Given the description of an element on the screen output the (x, y) to click on. 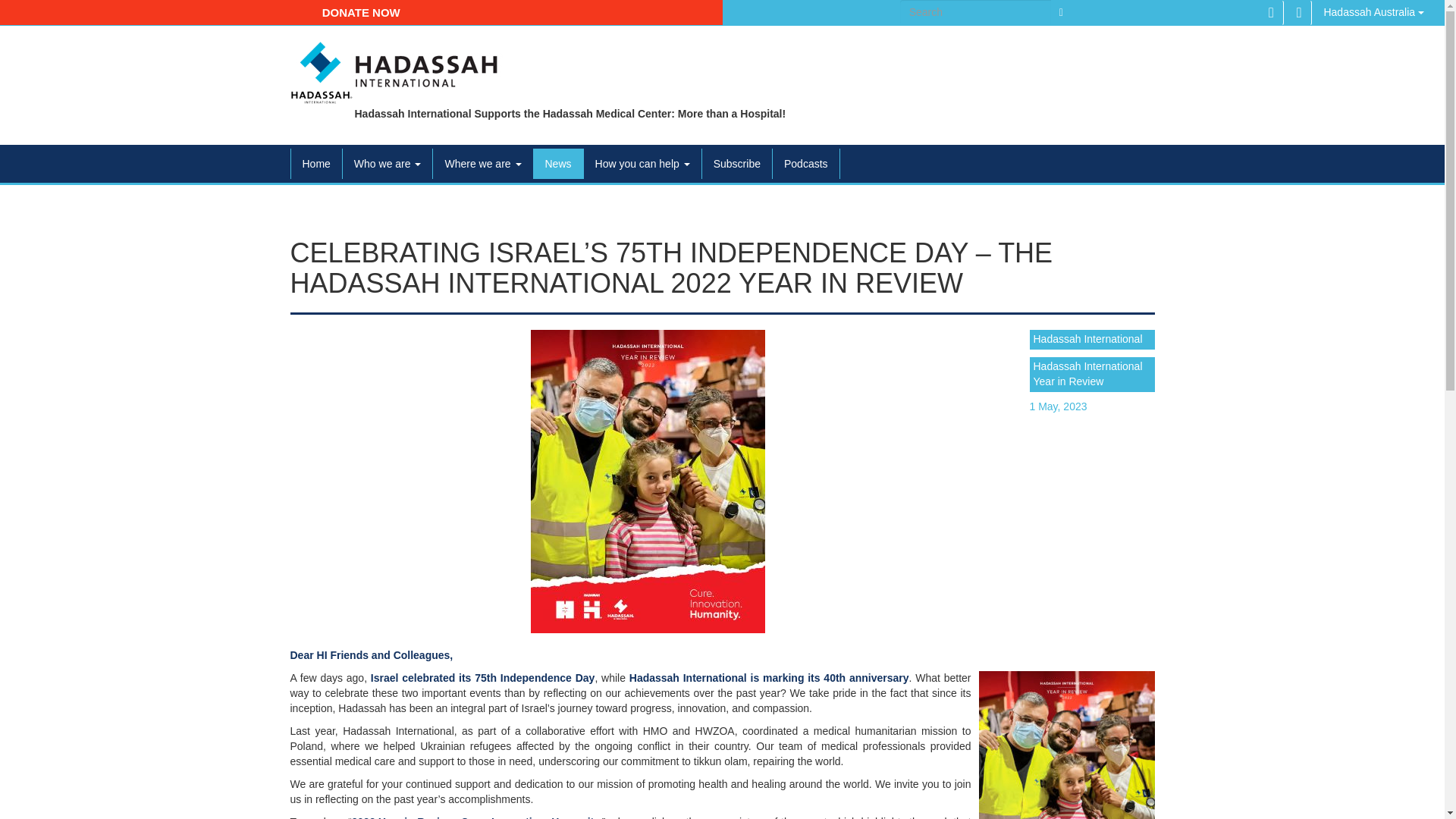
How you can help (642, 163)
Subscribe (736, 163)
News (558, 163)
DONATE NOW (361, 12)
Where we are (482, 163)
Who we are (387, 163)
Home (316, 163)
Hadassah Australia (1373, 12)
